Given the description of an element on the screen output the (x, y) to click on. 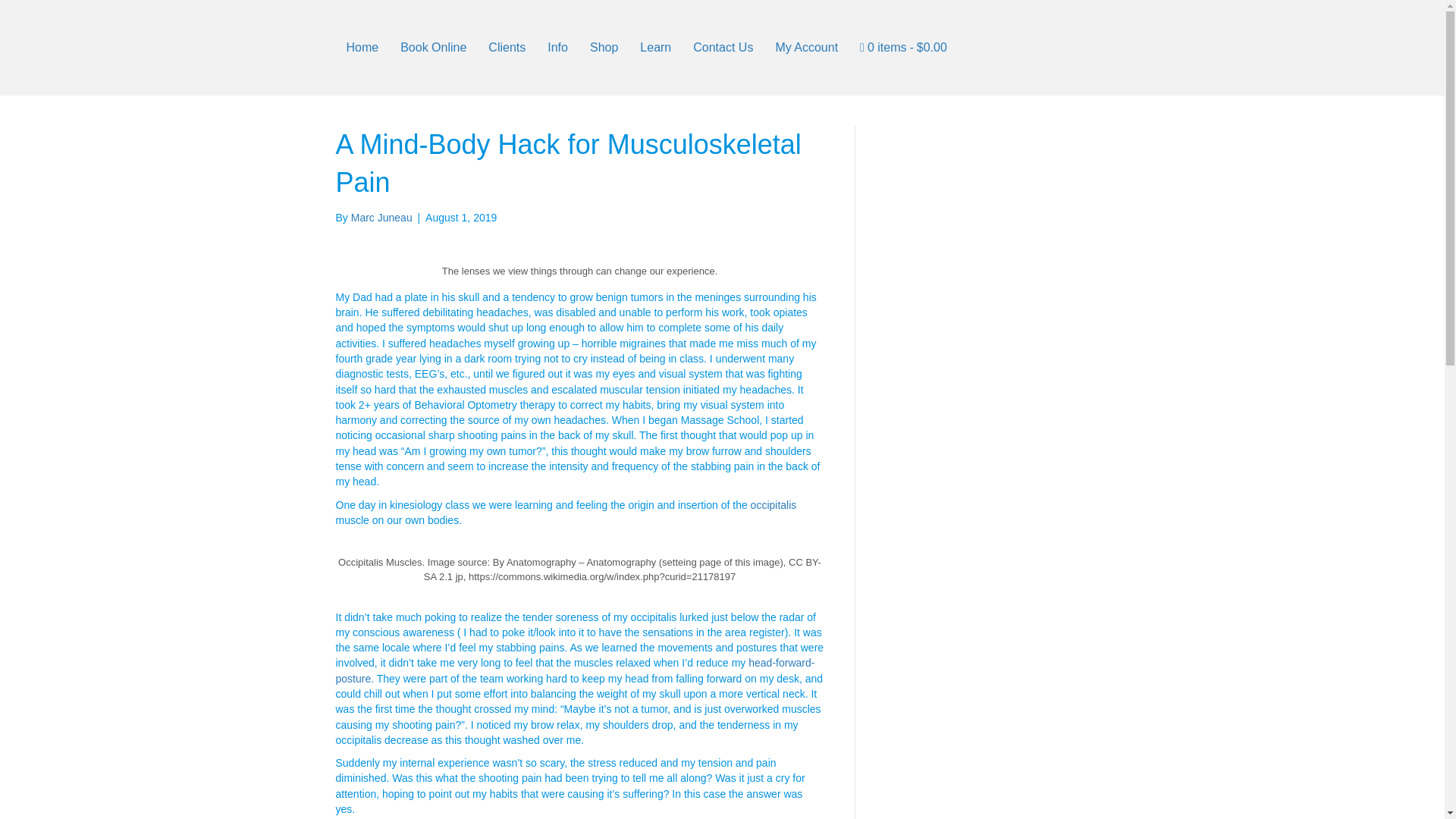
Home (361, 47)
Book Online (433, 47)
Shop (603, 47)
Learn (654, 47)
My Account (806, 47)
occipitalis (773, 504)
Contact Us (722, 47)
Marc Juneau (381, 217)
Clients (506, 47)
Info (557, 47)
